Given the description of an element on the screen output the (x, y) to click on. 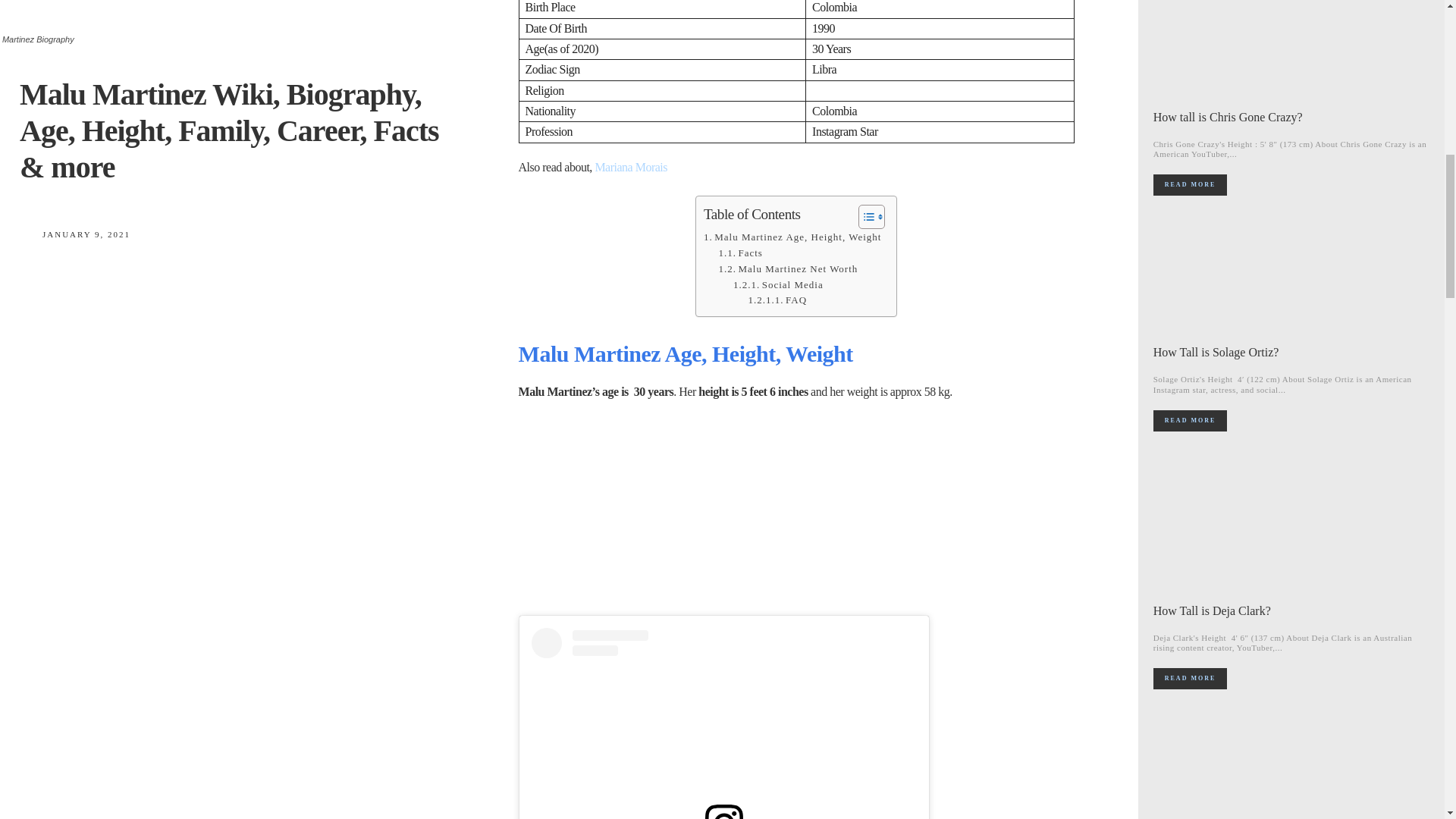
How Tall is Solage Ortiz? (1216, 351)
How tall is Chris Gone Crazy? (1228, 116)
How tall is Chris Gone Crazy? (1292, 49)
Read more (1190, 184)
Facts (739, 253)
How Tall is Solage Ortiz? (1292, 264)
How Tall is Deja Clark? (1292, 523)
FAQ (777, 300)
Read more (1190, 420)
Social Media (778, 285)
Malu Martinez Age, Height, Weight (792, 237)
